Given the description of an element on the screen output the (x, y) to click on. 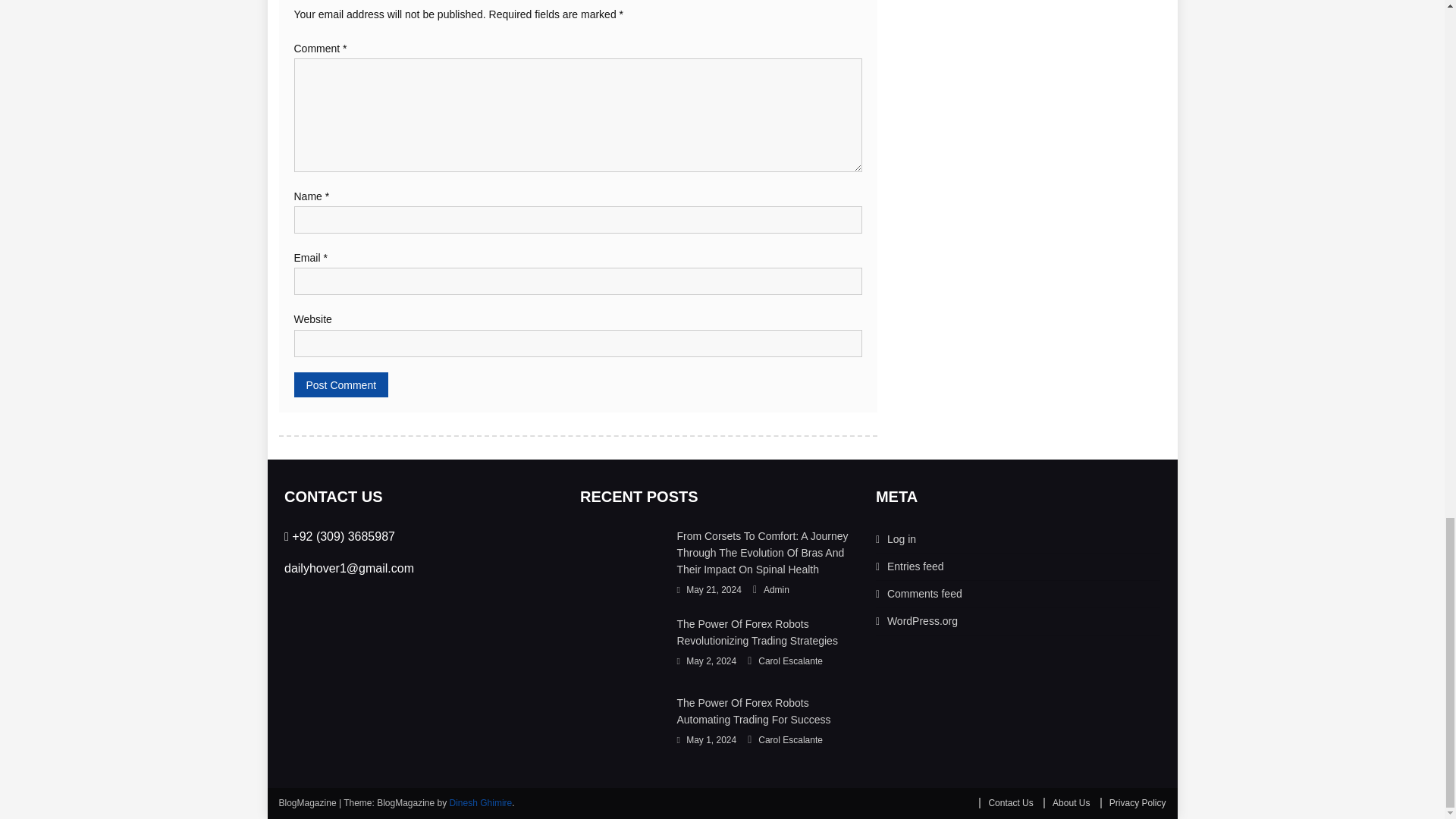
Post Comment (341, 384)
